Given the description of an element on the screen output the (x, y) to click on. 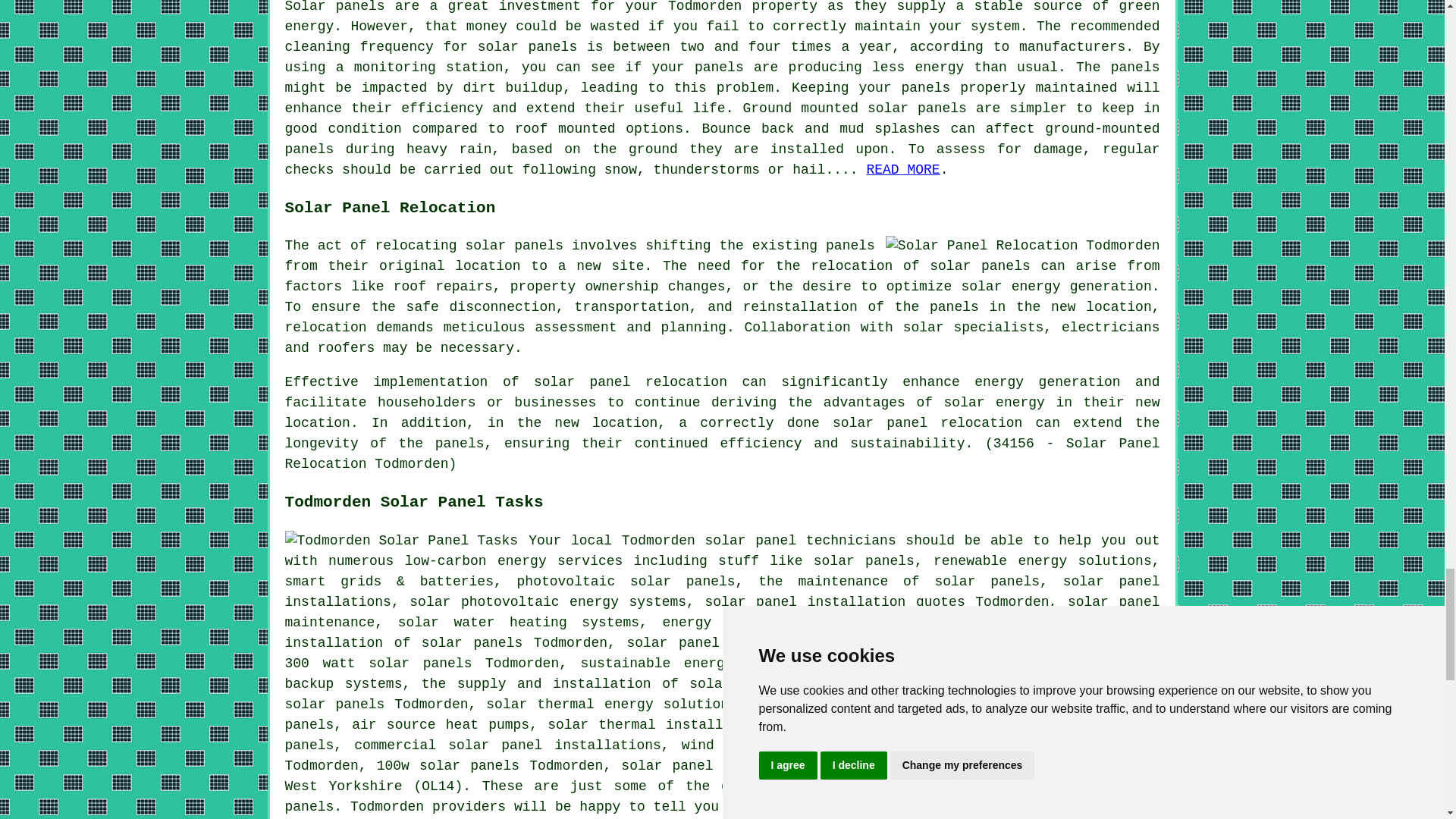
Solar Panel Maintenance (902, 169)
solar panels (513, 245)
Todmorden Solar Panel Tasks (401, 540)
photovoltaic solar panels (625, 581)
Solar Panel Relocation Todmorden (1022, 245)
Ground mounted solar panels (854, 108)
